Given the description of an element on the screen output the (x, y) to click on. 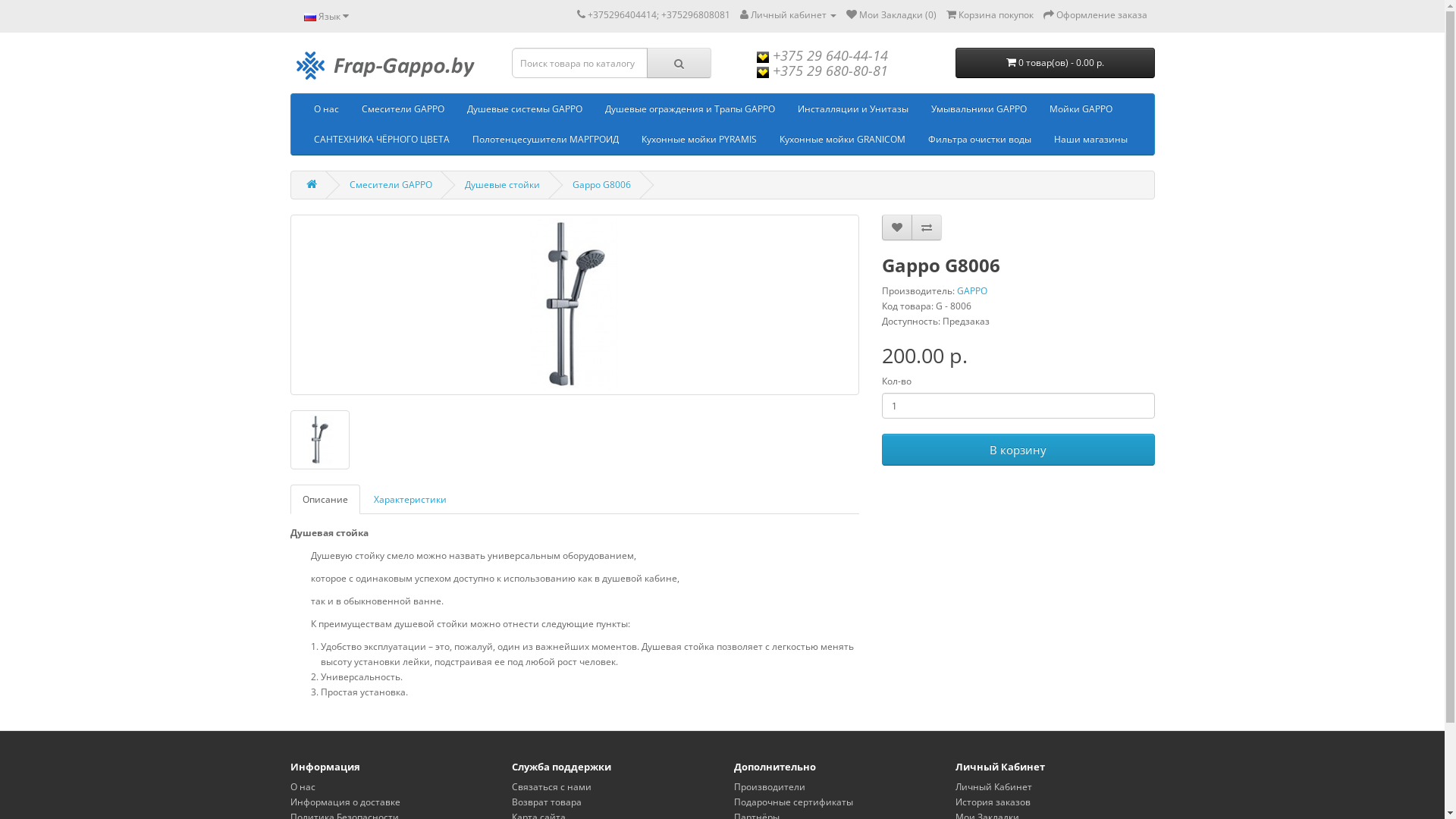
Gappo G8006 Element type: hover (573, 304)
Russian Element type: hover (309, 16)
Gappo G8006 Element type: hover (574, 304)
Gappo G8006 Element type: hover (318, 439)
GAPPO Element type: text (972, 290)
Gappo G8006 Element type: hover (319, 439)
Gappo G8006 Element type: text (600, 184)
